Given the description of an element on the screen output the (x, y) to click on. 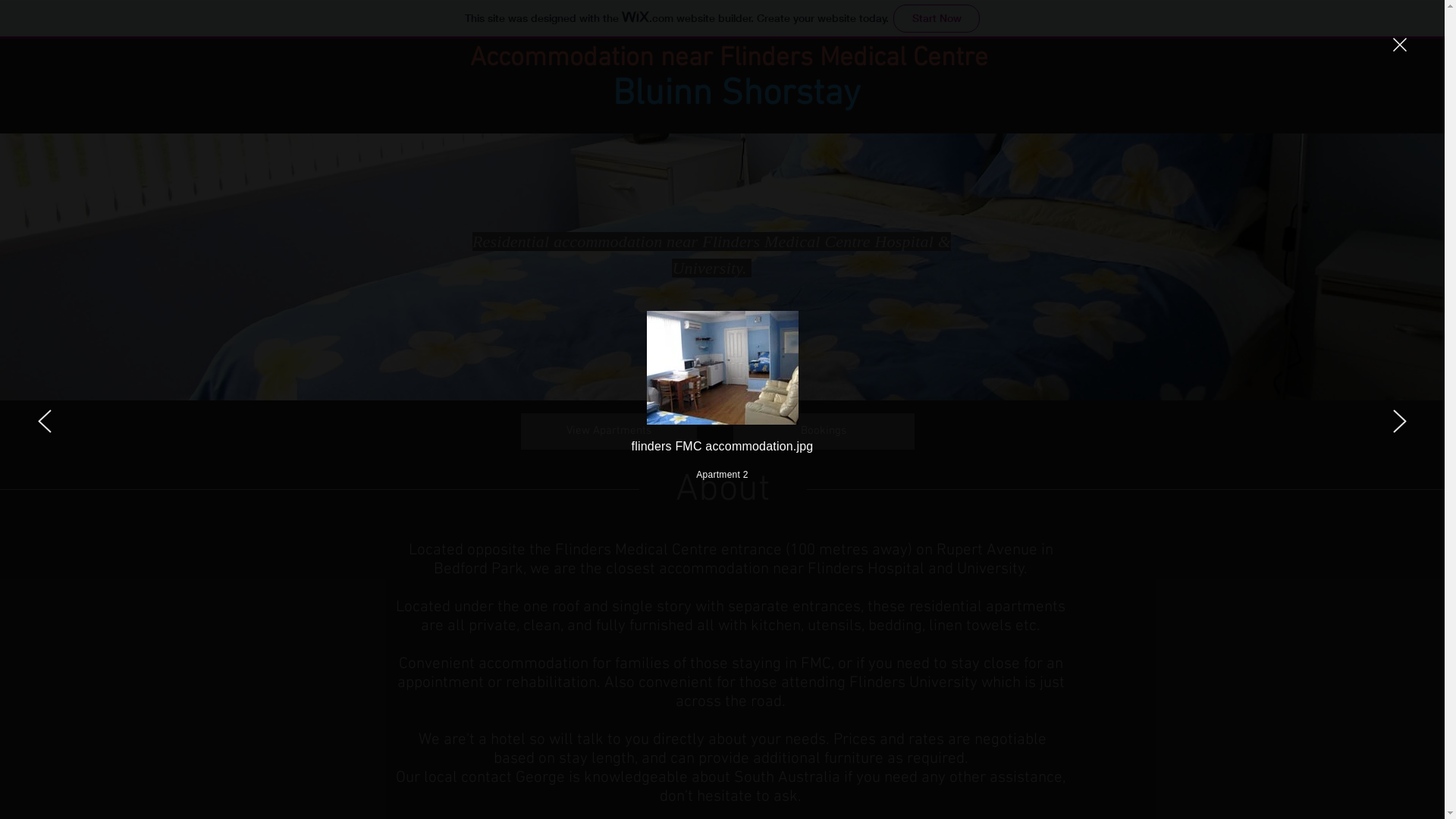
Bookings Element type: text (822, 430)
View Apartments Element type: text (608, 430)
